Given the description of an element on the screen output the (x, y) to click on. 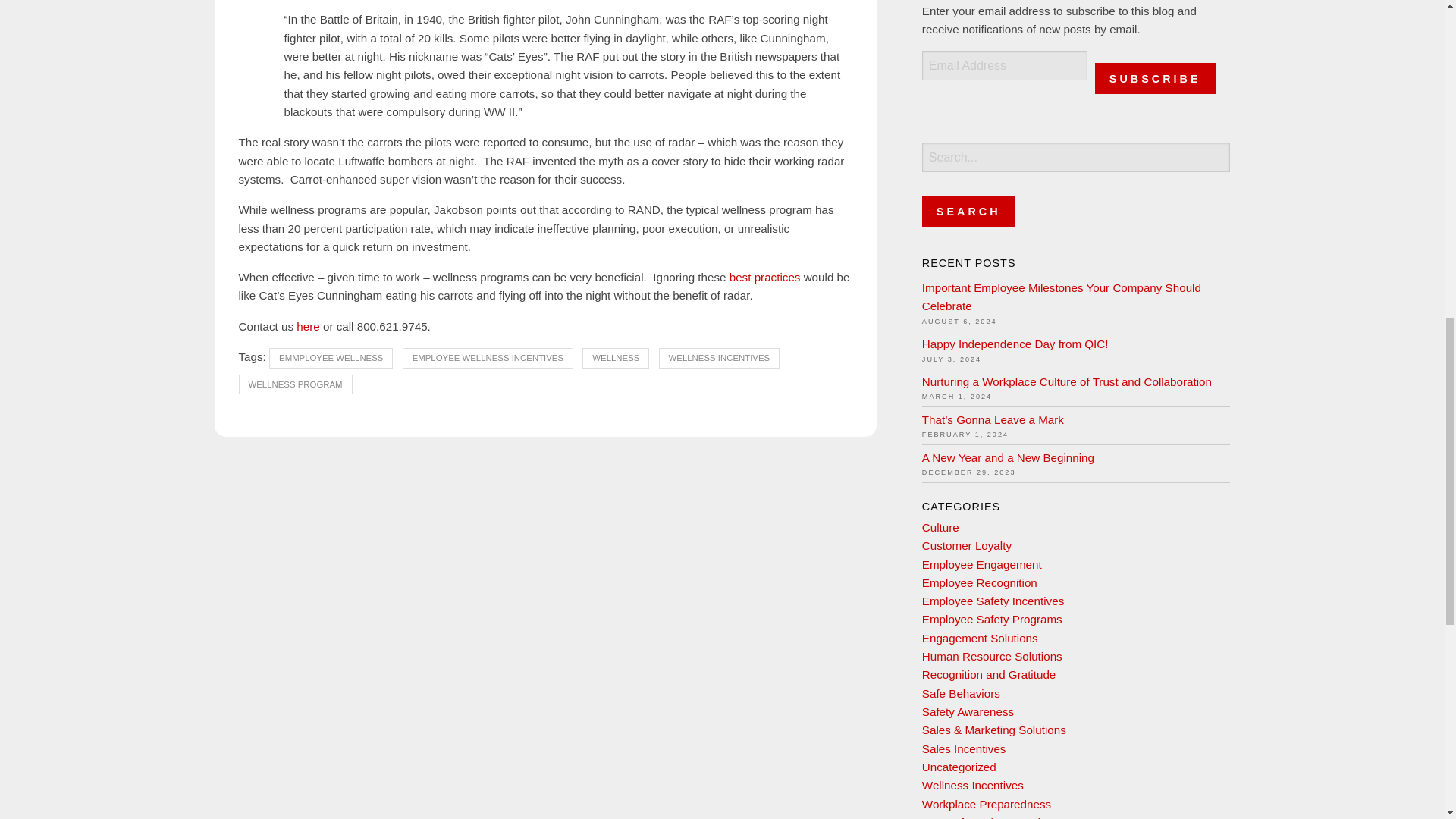
Search (967, 211)
Search (967, 211)
Search for: (1075, 156)
